Given the description of an element on the screen output the (x, y) to click on. 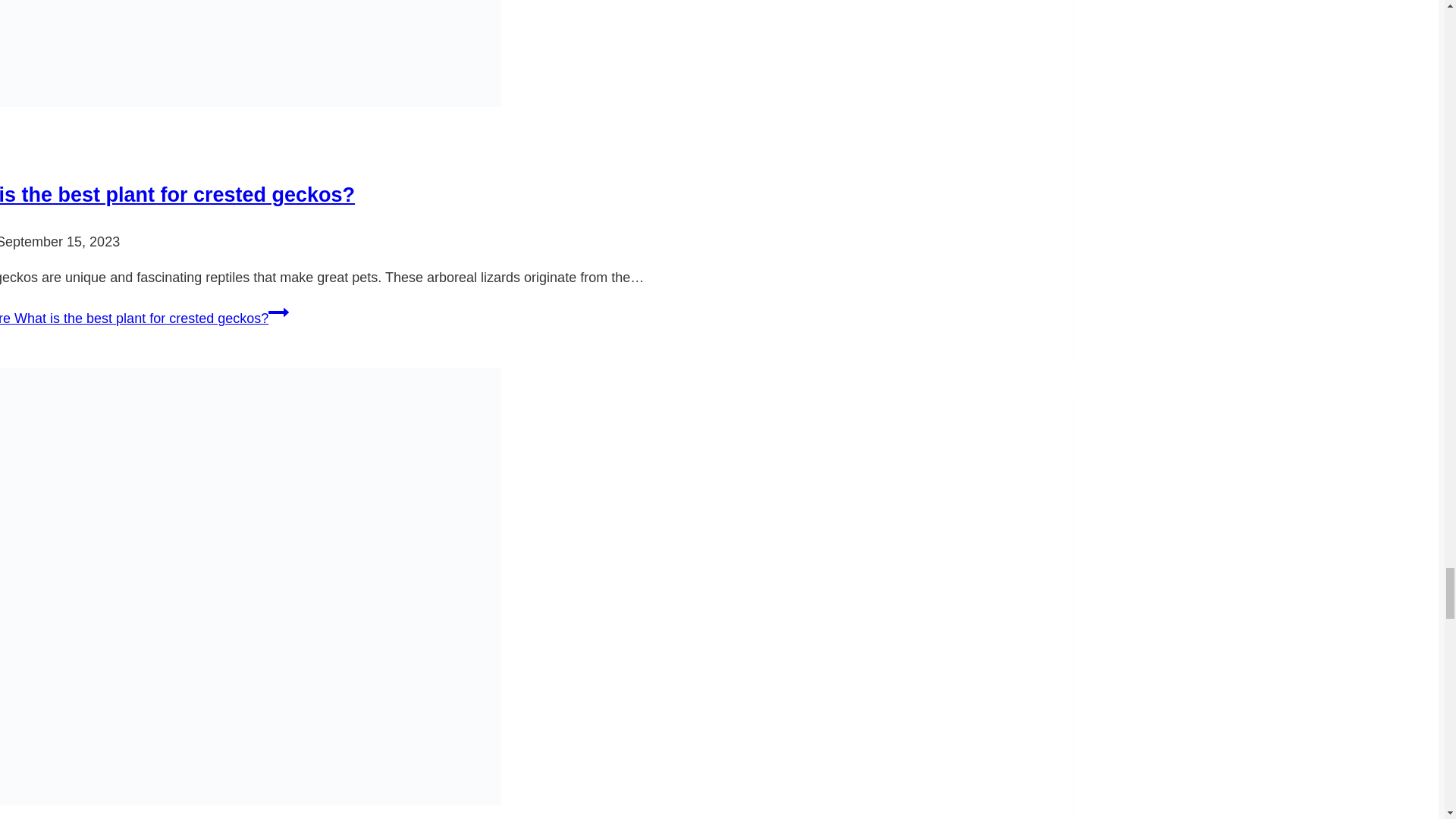
Continue (277, 312)
Read More What is the best plant for crested geckos?Continue (144, 318)
What is the best plant for crested geckos? (177, 194)
